Given the description of an element on the screen output the (x, y) to click on. 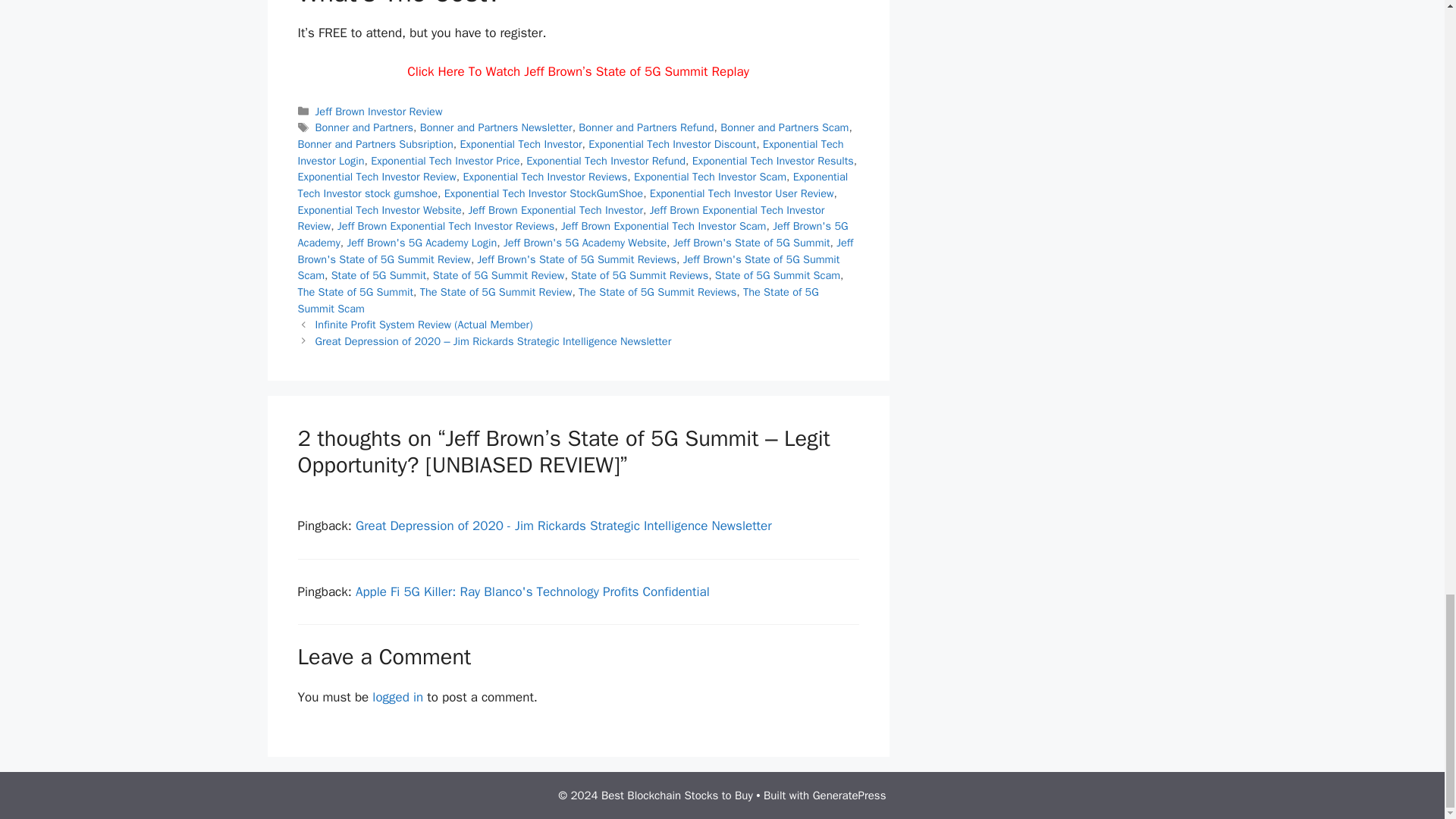
Exponential Tech Investor Login (570, 152)
Exponential Tech Investor User Review (741, 192)
Exponential Tech Investor (520, 143)
Exponential Tech Investor Results (773, 160)
Jeff Brown Investor Review (378, 110)
Exponential Tech Investor Scam (709, 176)
Exponential Tech Investor Discount (671, 143)
Exponential Tech Investor stock gumshoe (572, 184)
Bonner and Partners Refund (645, 127)
Bonner and Partners Scam (784, 127)
Bonner and Partners Newsletter (496, 127)
Bonner and Partners Subsription (374, 143)
Exponential Tech Investor Price (445, 160)
Exponential Tech Investor Website (379, 210)
Exponential Tech Investor StockGumShoe (543, 192)
